Given the description of an element on the screen output the (x, y) to click on. 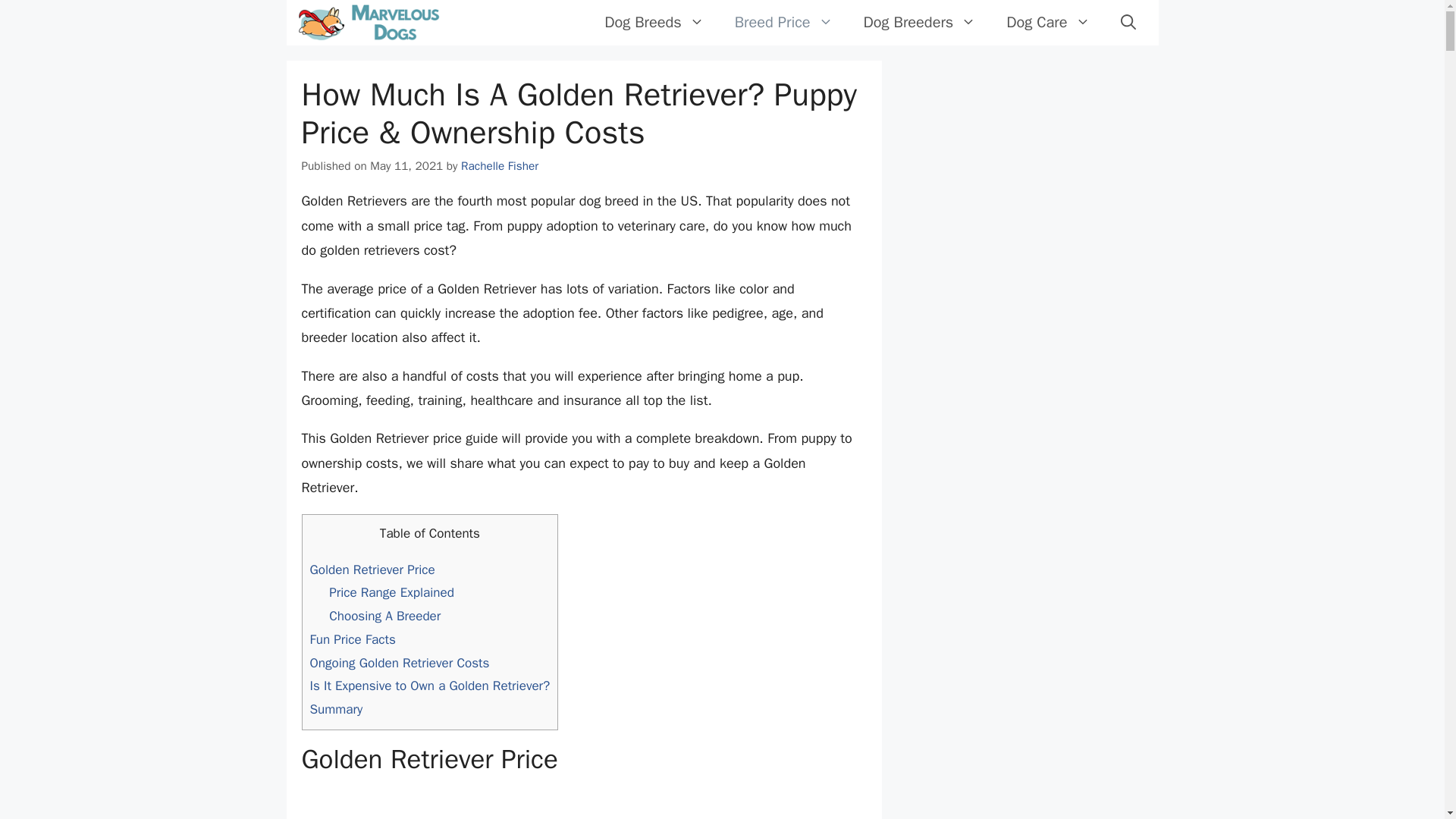
Dog Care (1048, 22)
View all posts by Rachelle Fisher (499, 165)
Marvelous Dogs (369, 21)
Breed Price (783, 22)
Dog Breeds (654, 22)
Price Range Explained (391, 592)
Golden Retriever Price (370, 569)
Dog Breeders (919, 22)
Marvelous Dogs (369, 22)
Rachelle Fisher (499, 165)
